Given the description of an element on the screen output the (x, y) to click on. 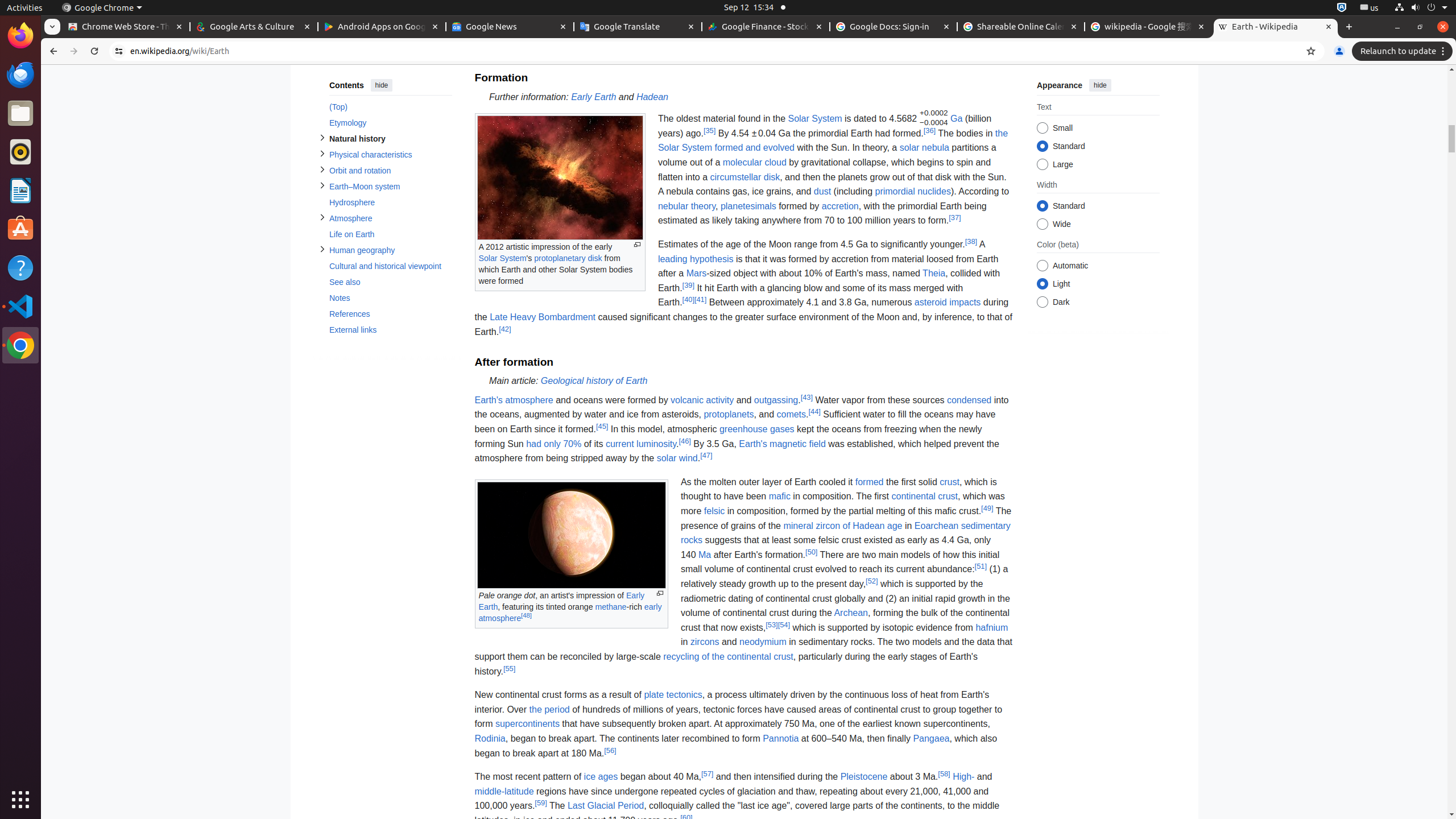
Ga Element type: link (956, 118)
Dark Element type: radio-button (1042, 302)
[48] Element type: link (525, 615)
Toggle Atmosphere subsection Element type: push-button (321, 217)
Toggle Physical characteristics subsection Element type: push-button (321, 153)
